Given the description of an element on the screen output the (x, y) to click on. 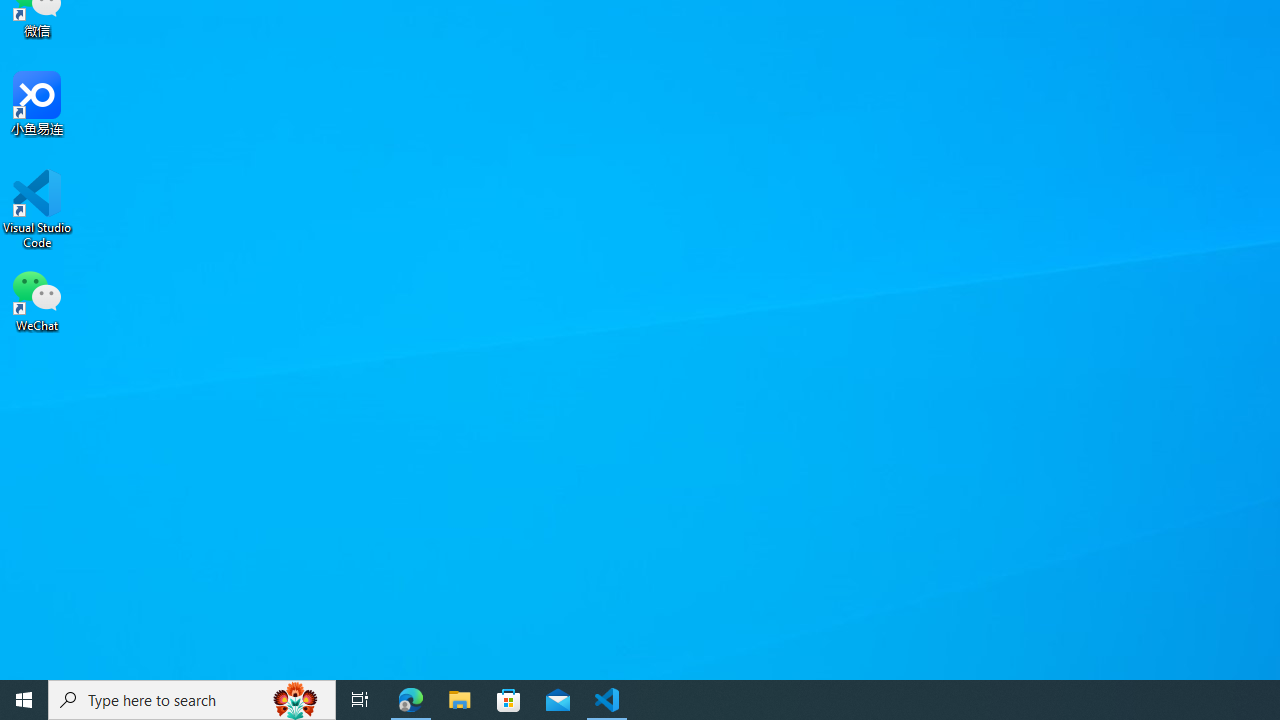
Microsoft Store (509, 699)
Search highlights icon opens search home window (295, 699)
File Explorer (460, 699)
Type here to search (191, 699)
Visual Studio Code (37, 209)
Task View (359, 699)
WeChat (37, 299)
Visual Studio Code - 1 running window (607, 699)
Microsoft Edge - 1 running window (411, 699)
Start (24, 699)
